Given the description of an element on the screen output the (x, y) to click on. 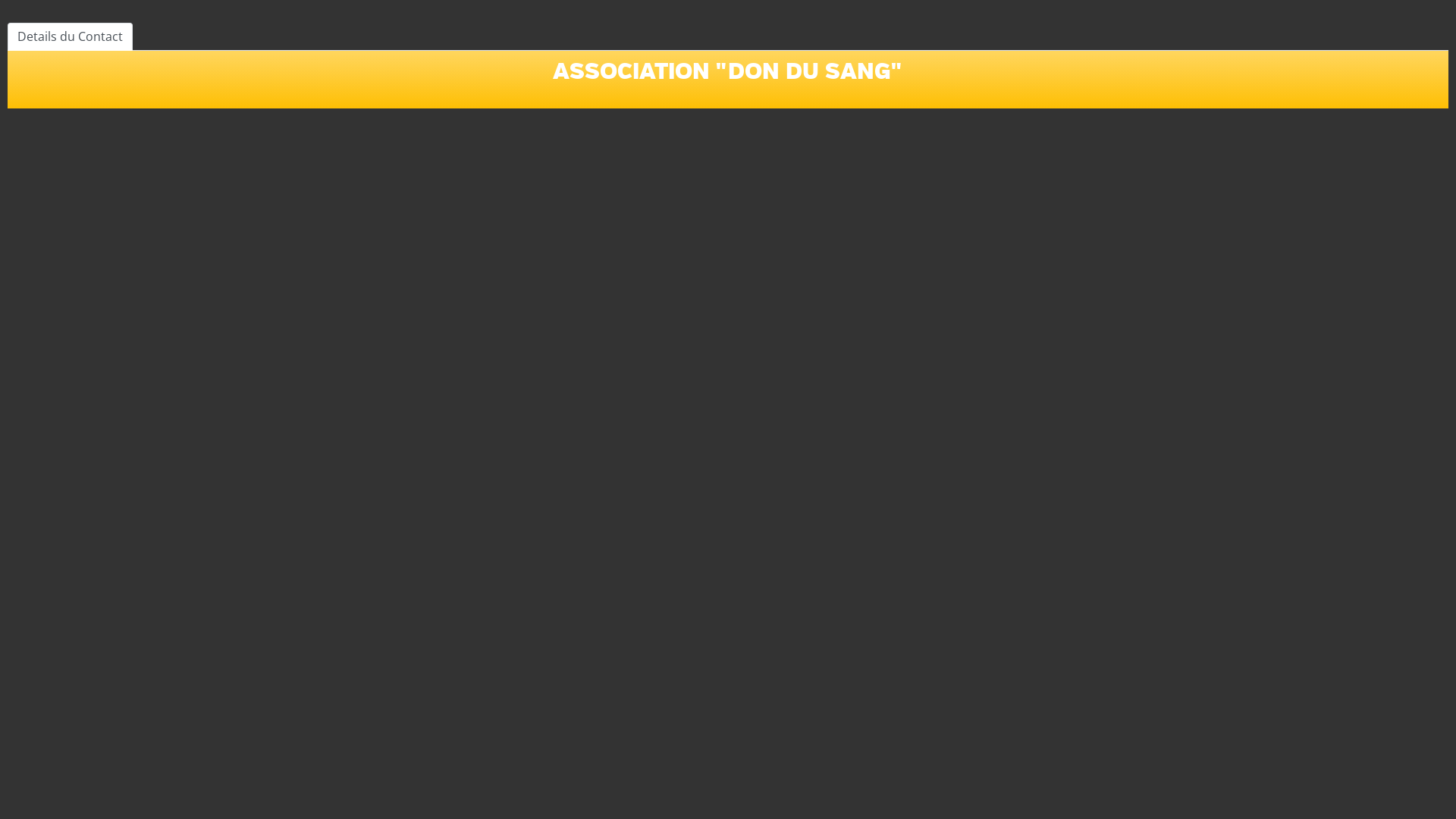
Details du Contact Element type: text (69, 36)
